Given the description of an element on the screen output the (x, y) to click on. 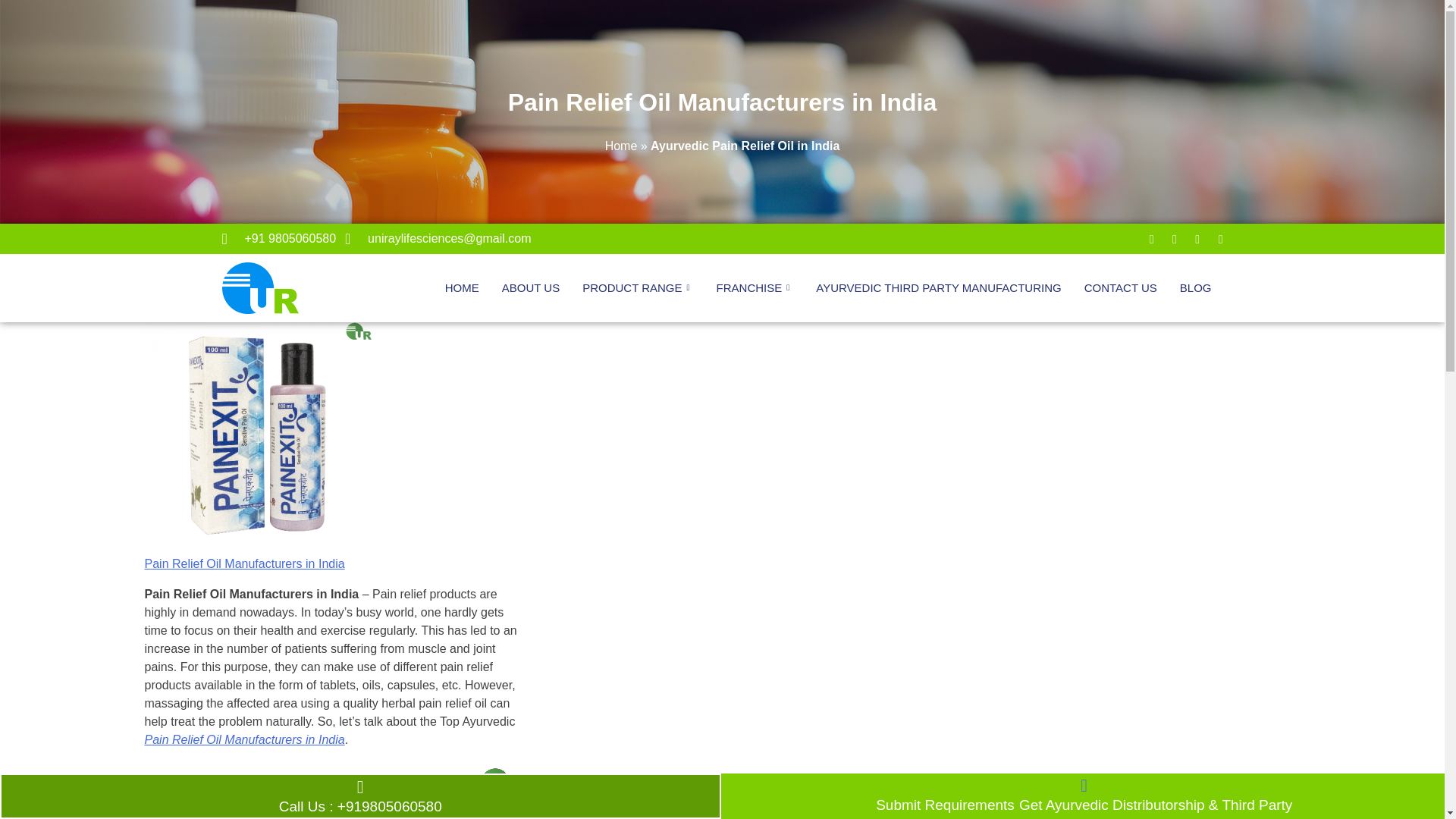
AYURVEDIC THIRD PARTY MANUFACTURING (938, 287)
HOME (461, 287)
FRANCHISE (754, 287)
BLOG (1196, 287)
Home (621, 145)
ABOUT US (530, 287)
CONTACT US (1121, 287)
PRODUCT RANGE (637, 287)
